Given the description of an element on the screen output the (x, y) to click on. 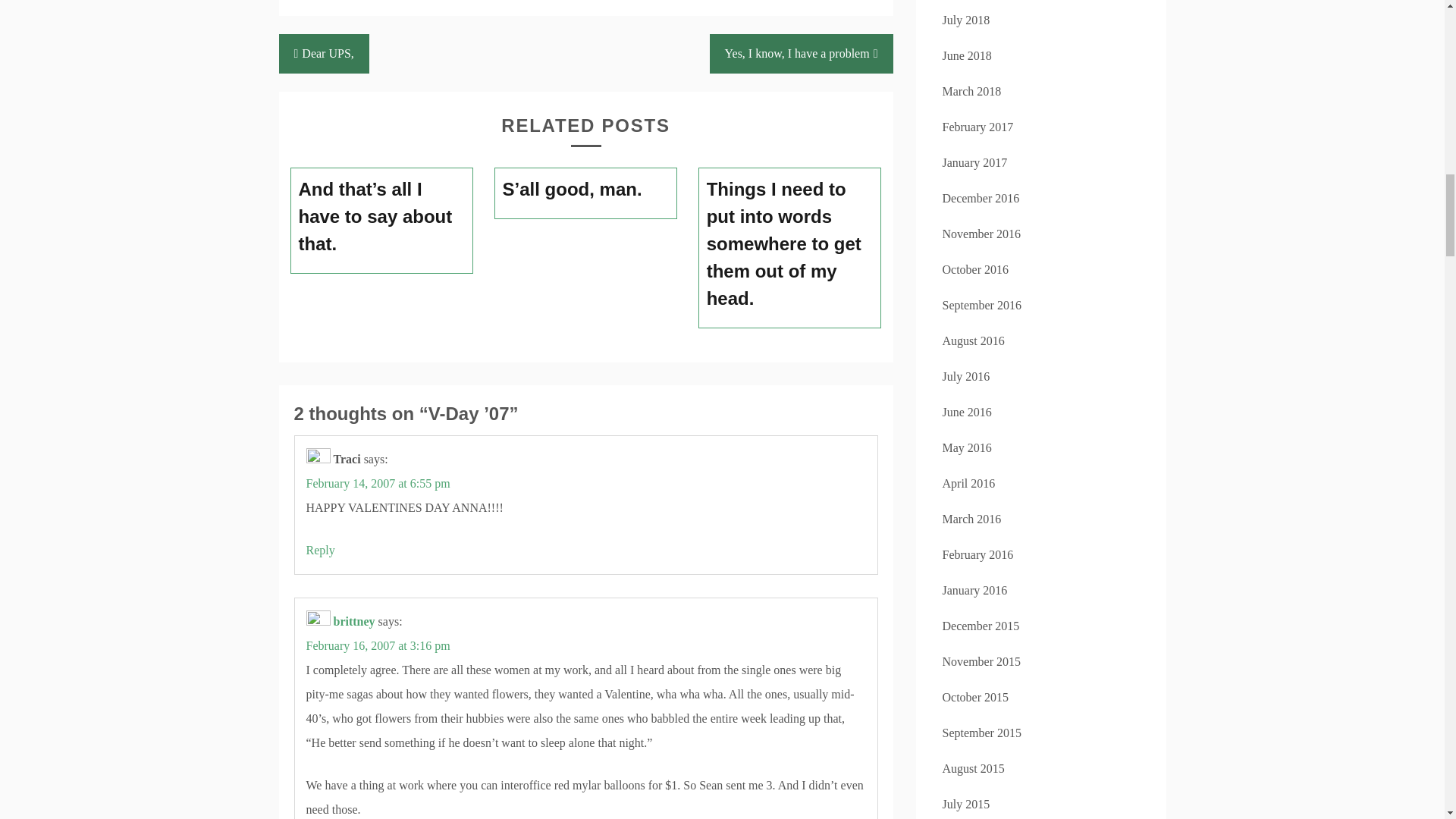
February 16, 2007 at 3:16 pm (377, 645)
Reply (319, 549)
Dear UPS, (324, 53)
brittney (354, 621)
Yes, I know, I have a problem (801, 53)
February 14, 2007 at 6:55 pm (377, 482)
